Given the description of an element on the screen output the (x, y) to click on. 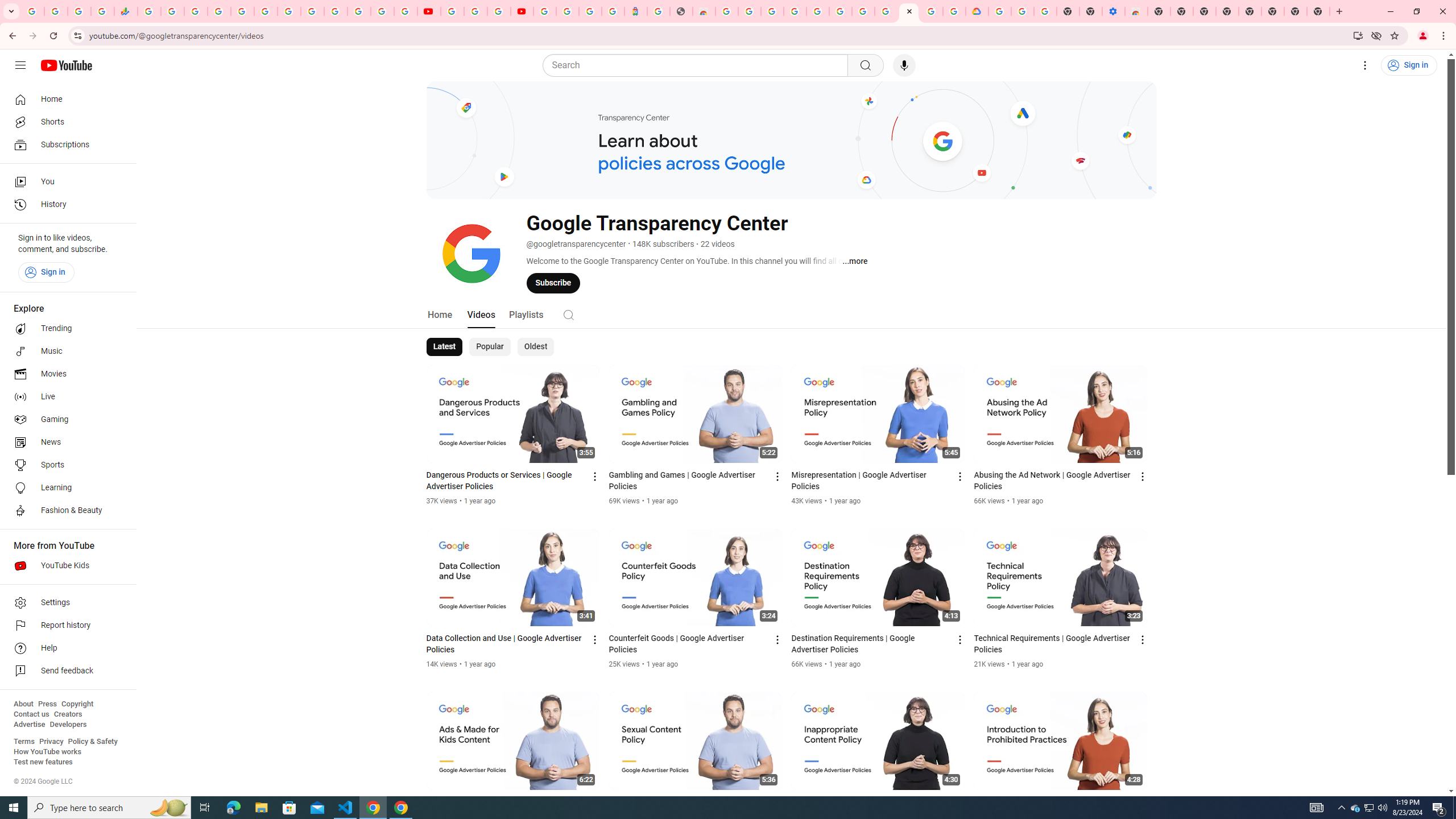
New Tab (1158, 11)
Shorts (64, 121)
YouTube (451, 11)
YouTube Home (66, 65)
Playlists (525, 314)
Popular (489, 346)
Chrome Web Store - Household (703, 11)
Search (567, 314)
Creators (67, 714)
Sign in - Google Accounts (335, 11)
